Given the description of an element on the screen output the (x, y) to click on. 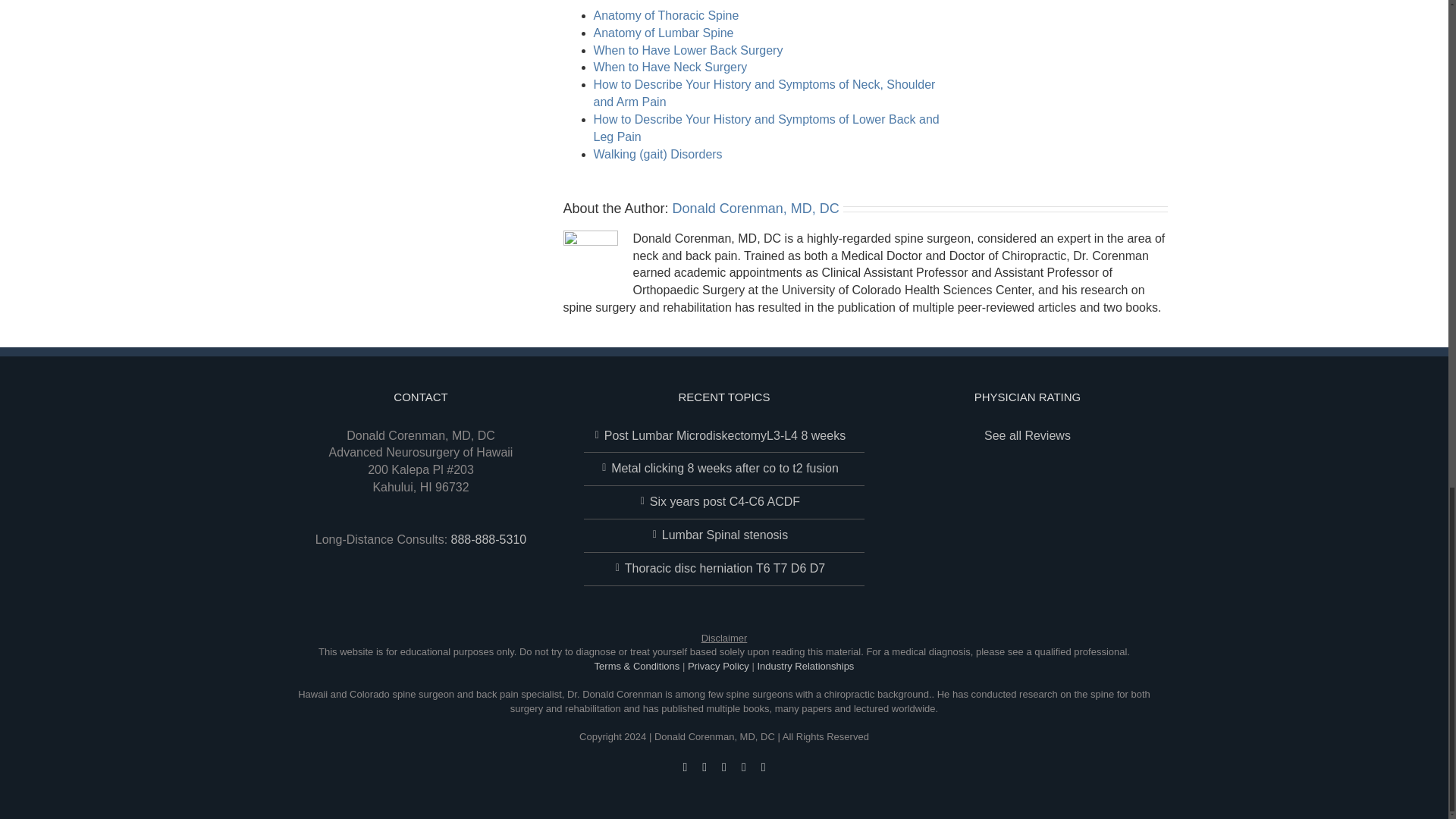
Posts by Donald Corenman, MD, DC (756, 208)
